Given the description of an element on the screen output the (x, y) to click on. 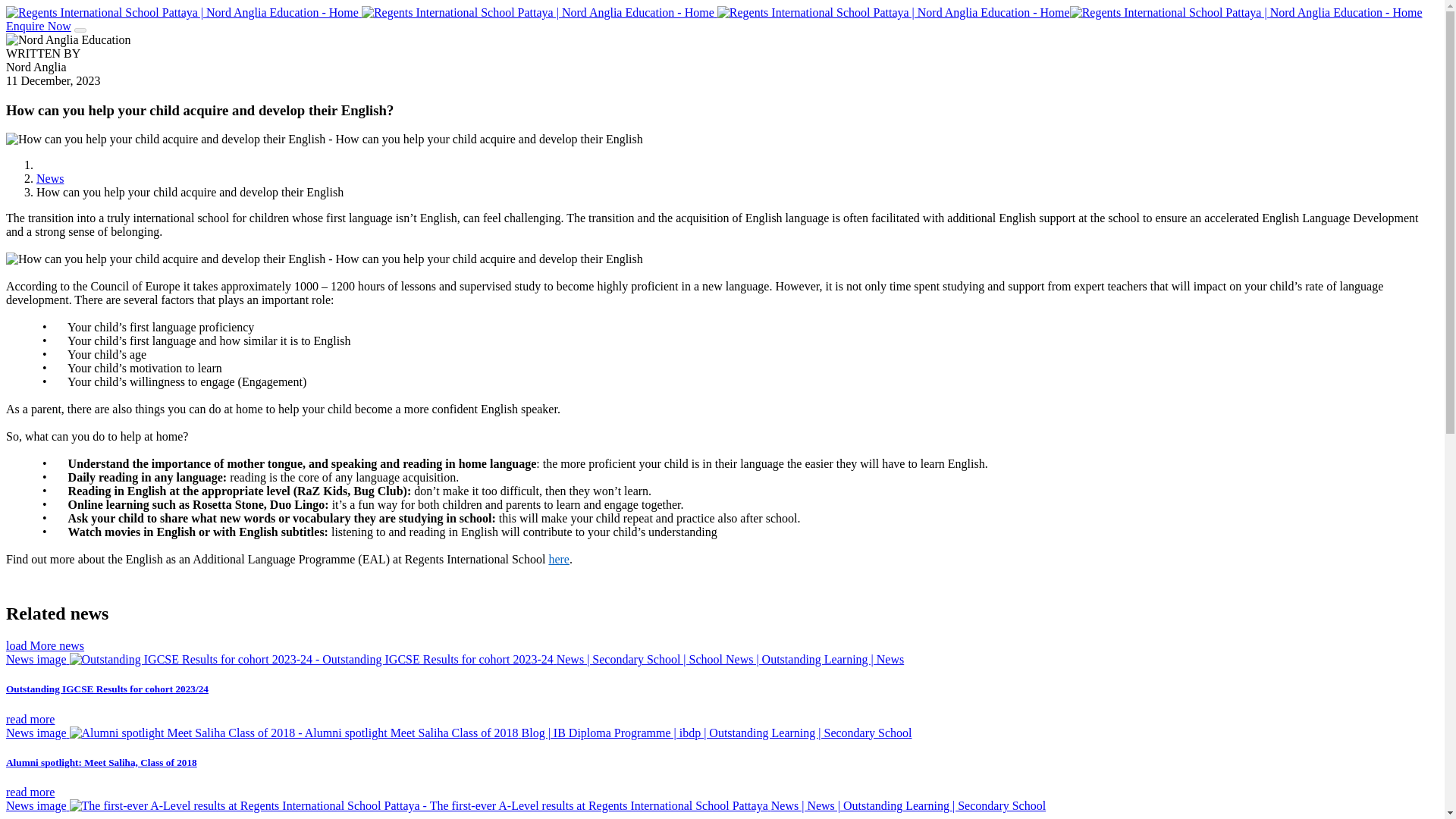
Enquire Now (38, 25)
read more (30, 791)
read more (30, 718)
Enquire Now (38, 25)
